Given the description of an element on the screen output the (x, y) to click on. 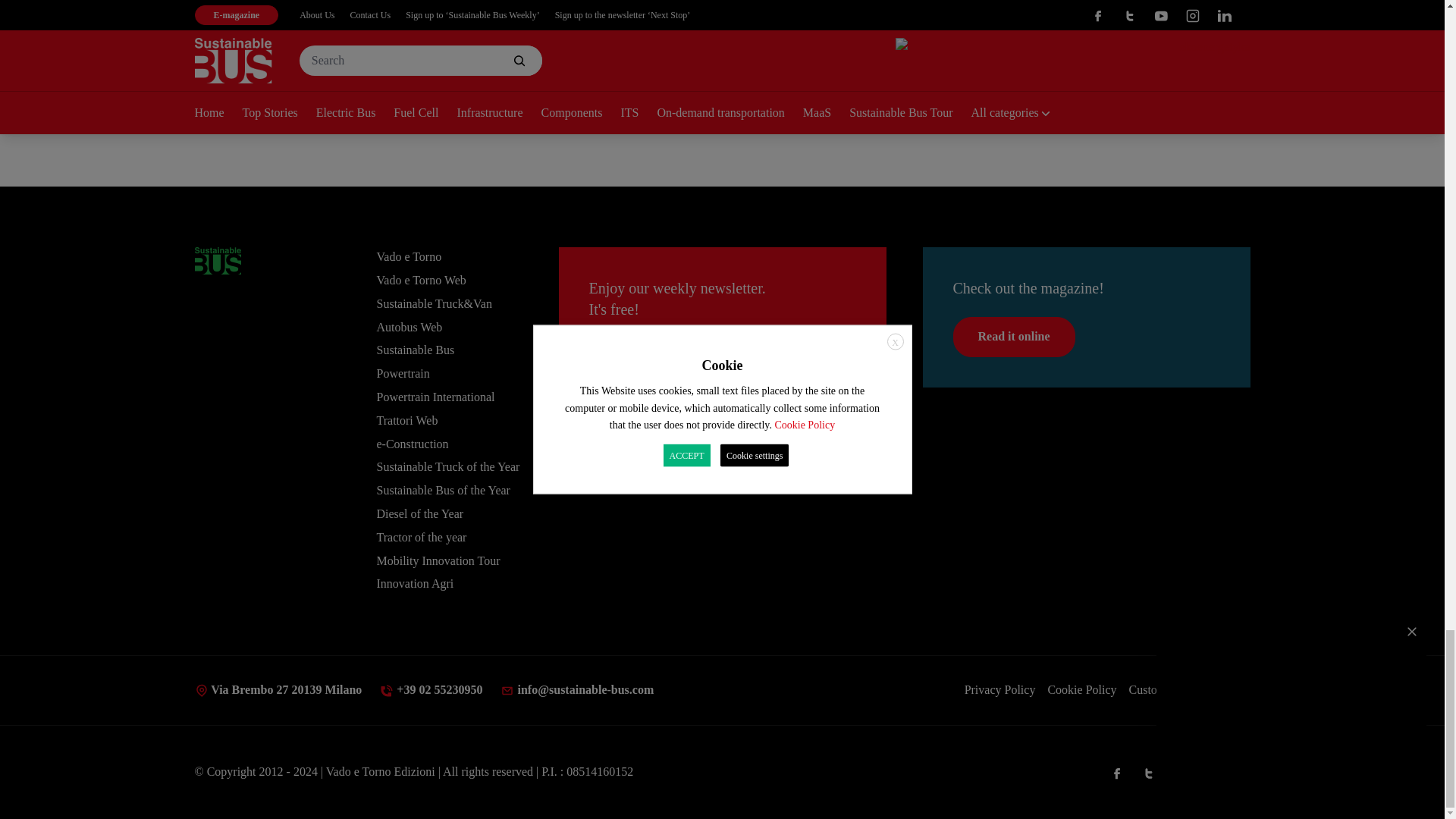
Sustainable Bus (216, 260)
